Given the description of an element on the screen output the (x, y) to click on. 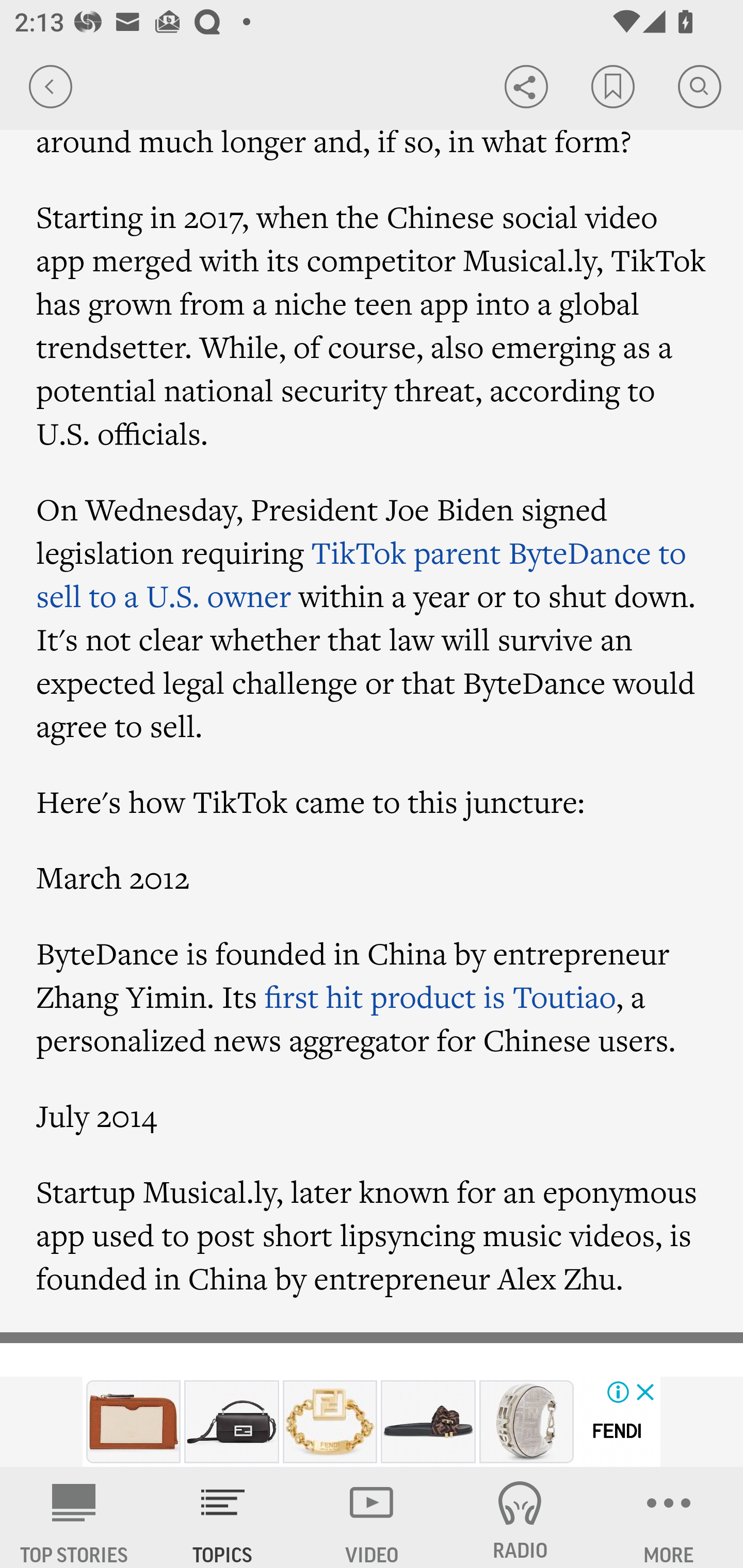
TikTok parent ByteDance to sell to a U.S. owner (362, 574)
first hit product is Toutiao (440, 997)
fendi-feel-brown-satin-slides-8x8142ae7sf0r7v (428, 1420)
AP News TOP STORIES (74, 1517)
TOPICS (222, 1517)
VIDEO (371, 1517)
RADIO (519, 1517)
MORE (668, 1517)
